Given the description of an element on the screen output the (x, y) to click on. 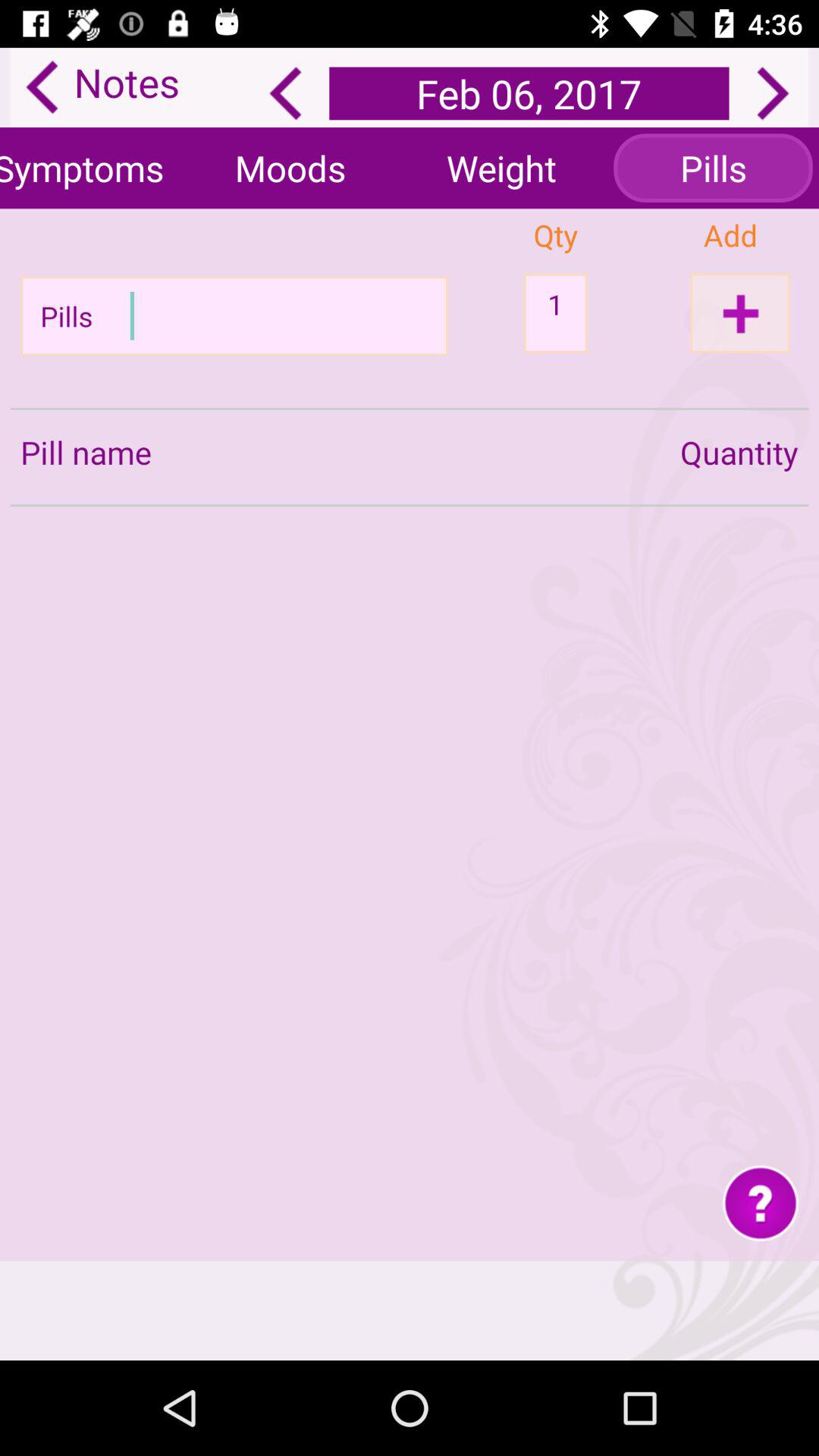
question (760, 1202)
